Given the description of an element on the screen output the (x, y) to click on. 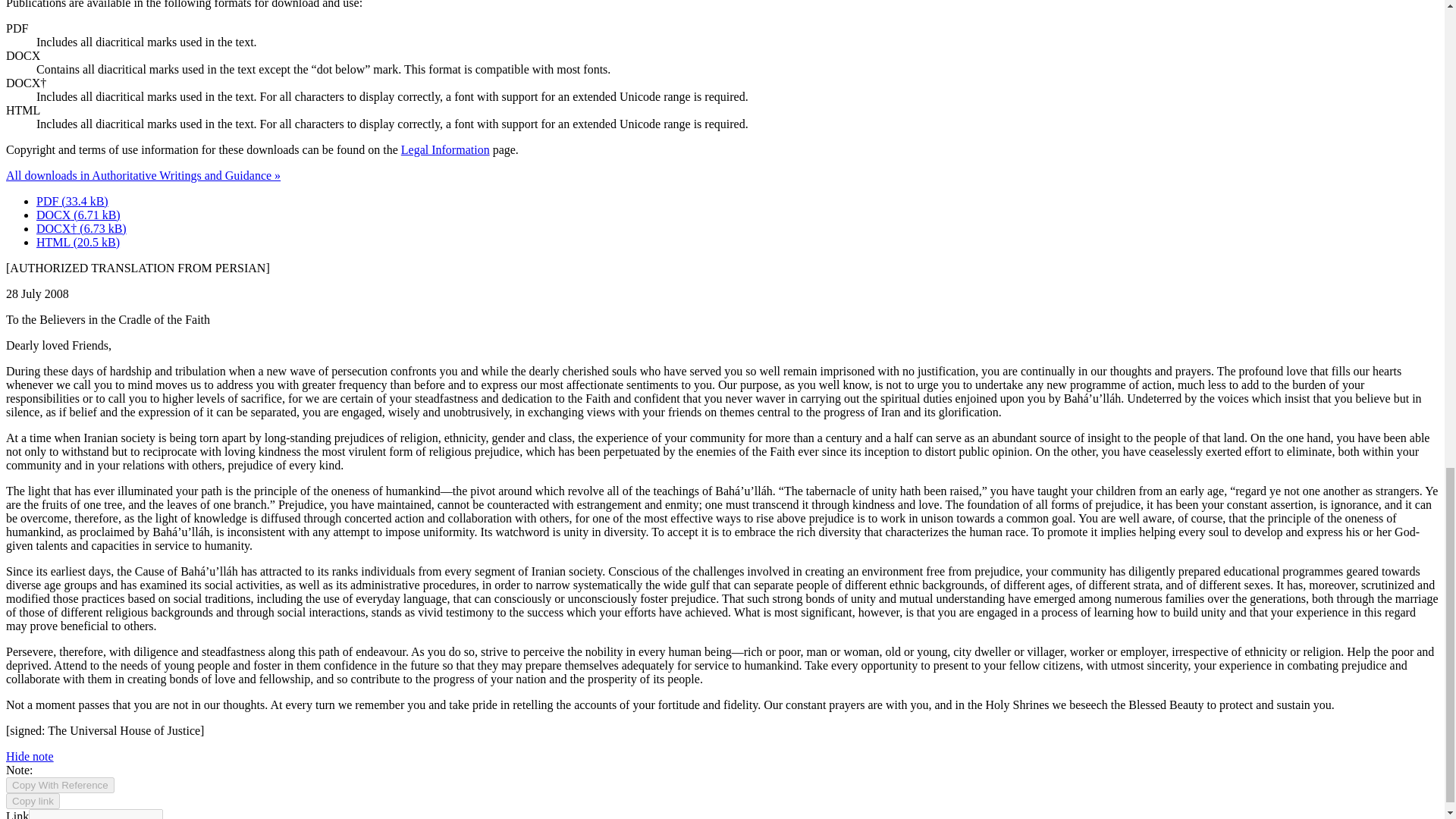
Legal Information (445, 149)
